Given the description of an element on the screen output the (x, y) to click on. 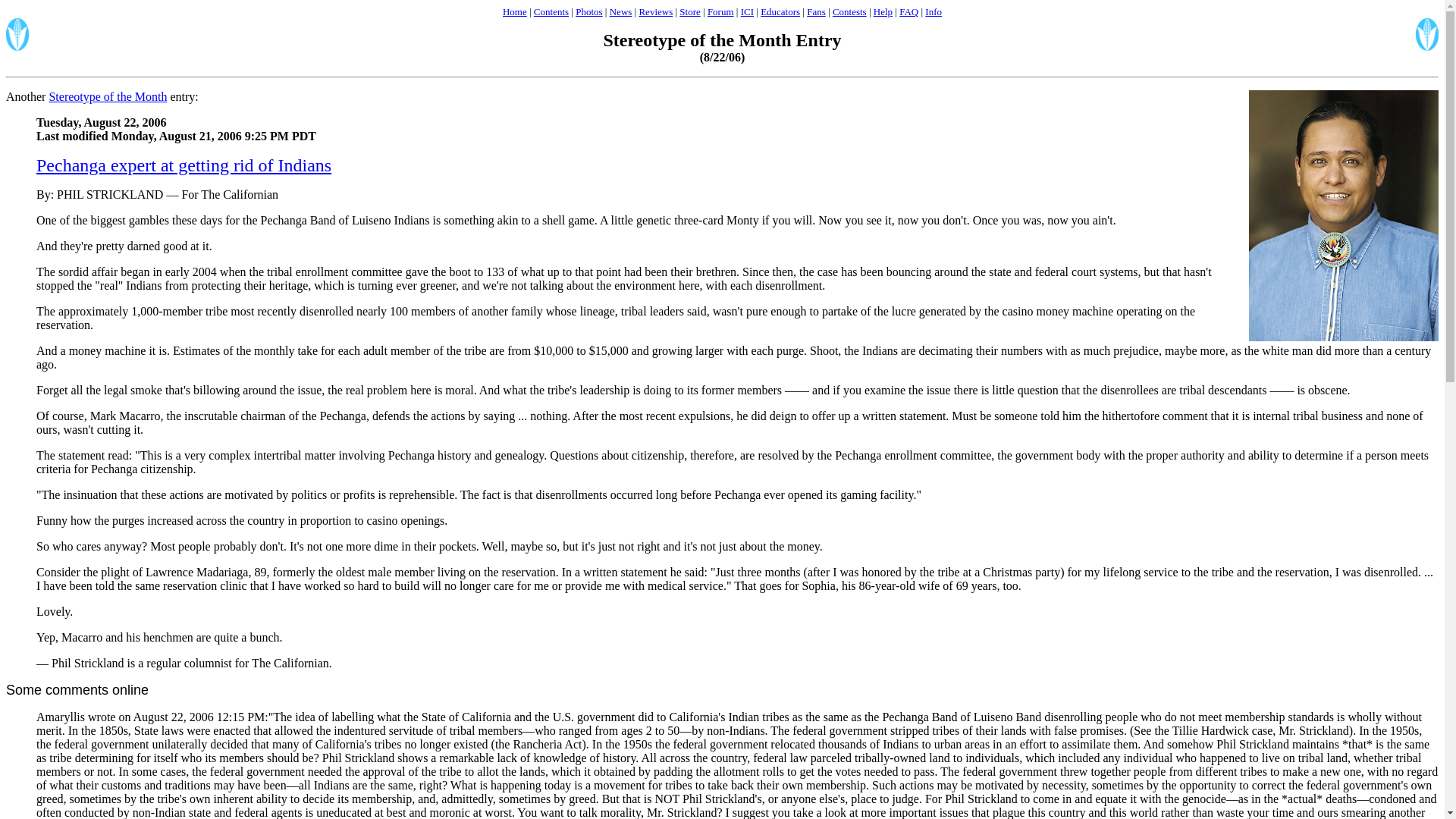
Reviews (655, 11)
Fans (815, 11)
ICI (747, 11)
Stereotype of the Month (107, 96)
Contents (551, 11)
Forum (720, 11)
Info (933, 11)
Contests (849, 11)
Help (882, 11)
Home (514, 11)
Photos (588, 11)
Pechanga expert at getting rid of Indians (183, 165)
FAQ (908, 11)
Educators (779, 11)
News (620, 11)
